Given the description of an element on the screen output the (x, y) to click on. 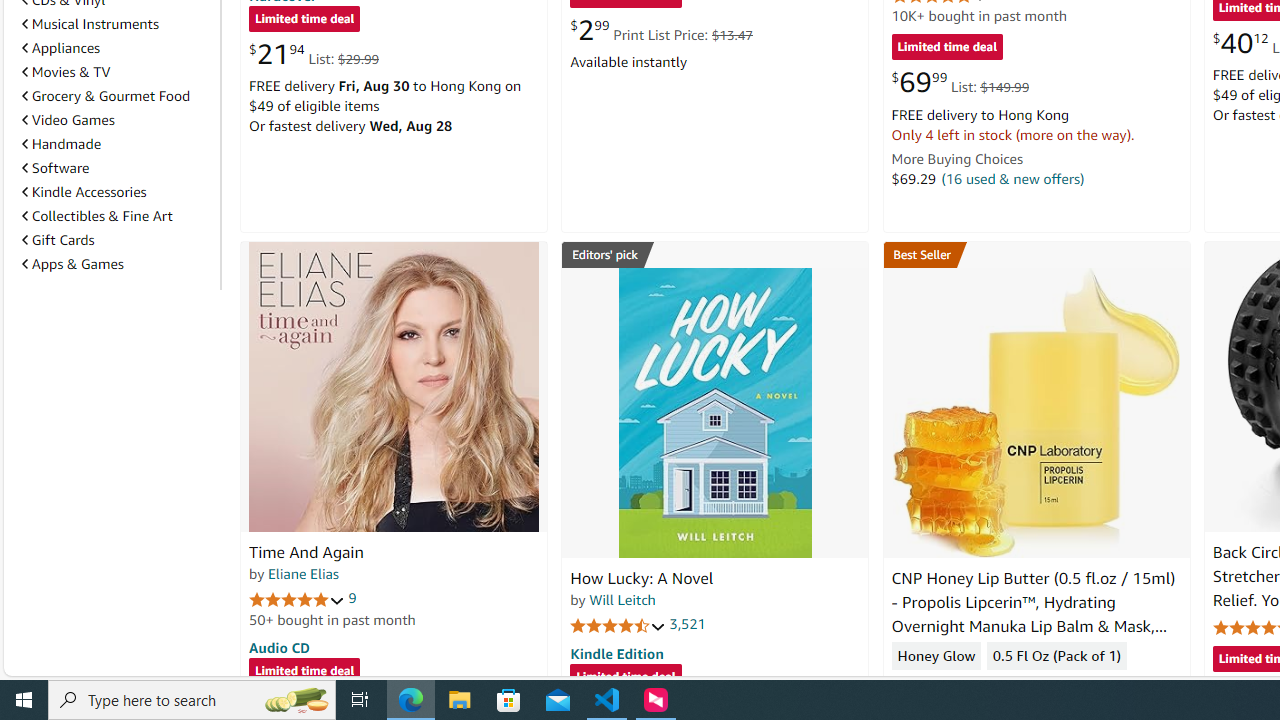
Grocery & Gourmet Food (117, 95)
Time And Again (306, 552)
(16 used & new offers) (1012, 178)
Musical Instruments (117, 23)
$69.99 List: $149.99 (960, 82)
Gift Cards (117, 239)
Musical Instruments (89, 24)
Will Leitch (621, 599)
$2.99 Print List Price: $13.47 (660, 30)
Software (117, 167)
Appliances (117, 48)
Audio CD (279, 646)
Handmade (61, 143)
3,521 (687, 624)
